Given the description of an element on the screen output the (x, y) to click on. 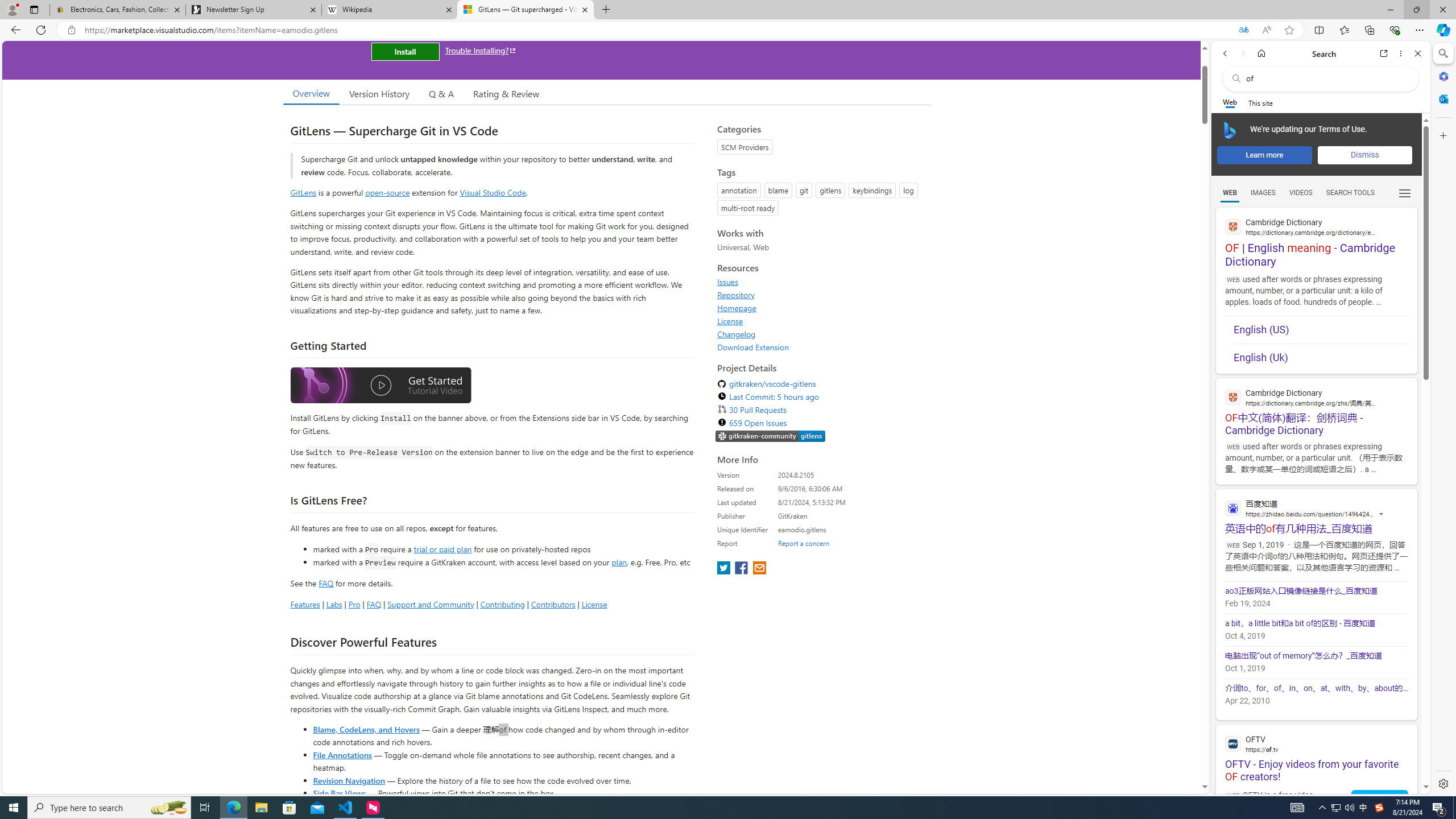
Changelog (820, 333)
